Given the description of an element on the screen output the (x, y) to click on. 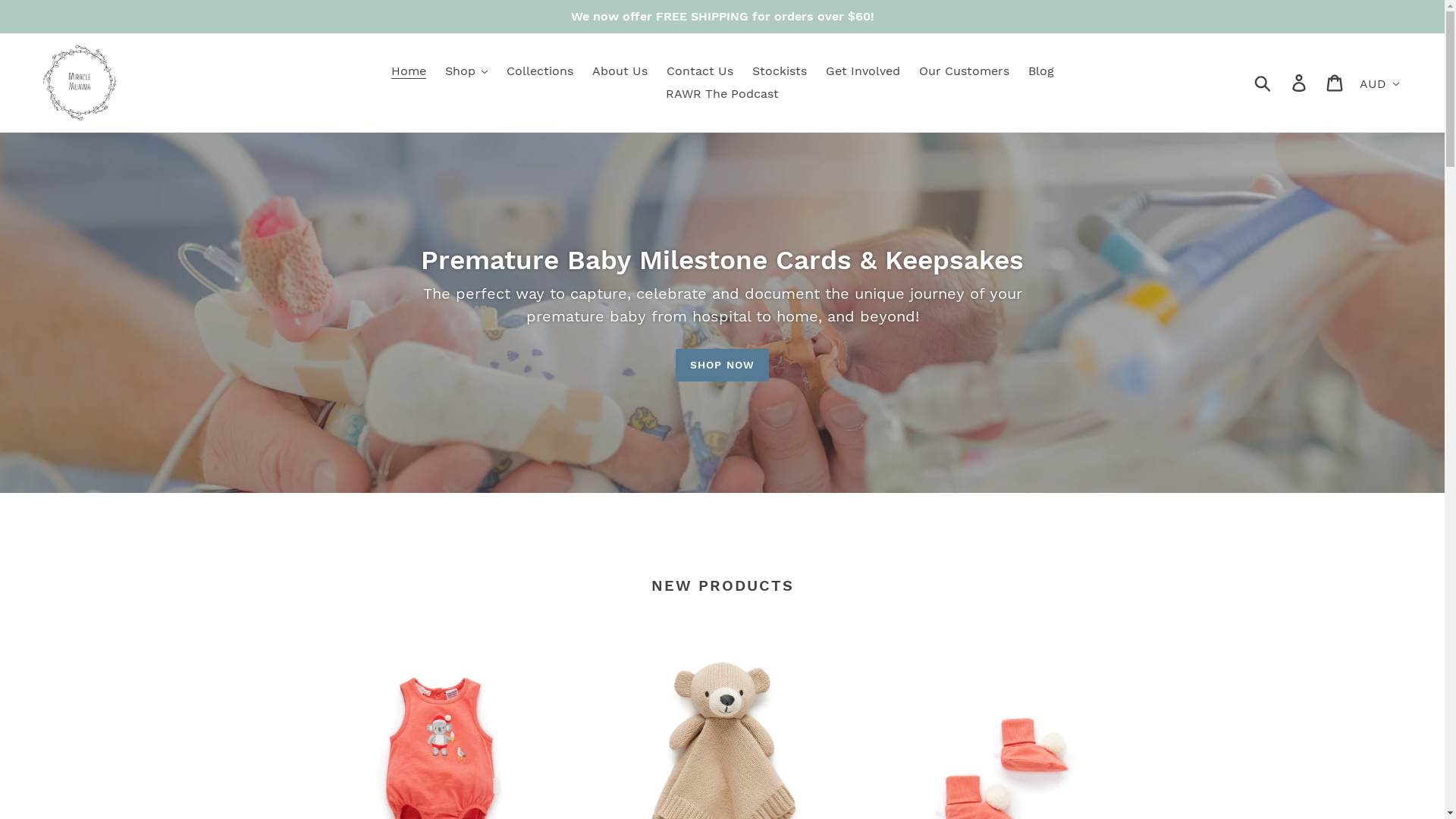
Log in Element type: text (1299, 82)
Get Involved Element type: text (861, 70)
Contact Us Element type: text (699, 70)
Cart Element type: text (1335, 82)
Blog Element type: text (1040, 70)
About Us Element type: text (618, 70)
RAWR The Podcast Element type: text (722, 93)
SHOP NOW Element type: text (721, 364)
Submit Element type: text (1263, 82)
Home Element type: text (408, 70)
Collections Element type: text (539, 70)
Stockists Element type: text (779, 70)
Our Customers Element type: text (963, 70)
